Given the description of an element on the screen output the (x, y) to click on. 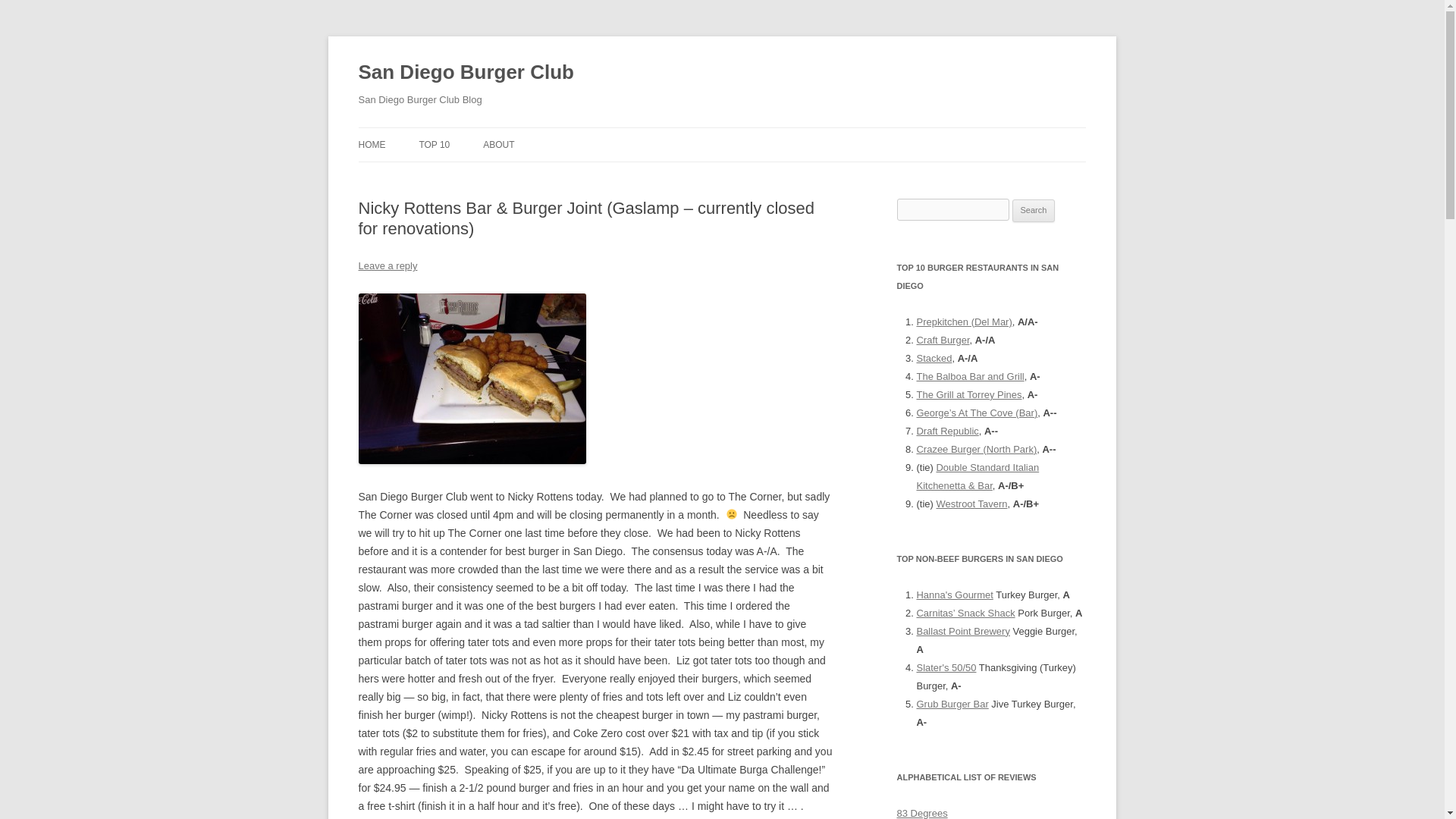
ABOUT (498, 144)
Grub Burger Bar (951, 704)
83 Degrees (921, 813)
Ballast Point Brewery (962, 631)
Westroot Tavern (971, 503)
San Diego Burger Club (465, 72)
San Diego Burger Club (465, 72)
Stacked (933, 357)
The Grill at Torrey Pines (968, 394)
